Given the description of an element on the screen output the (x, y) to click on. 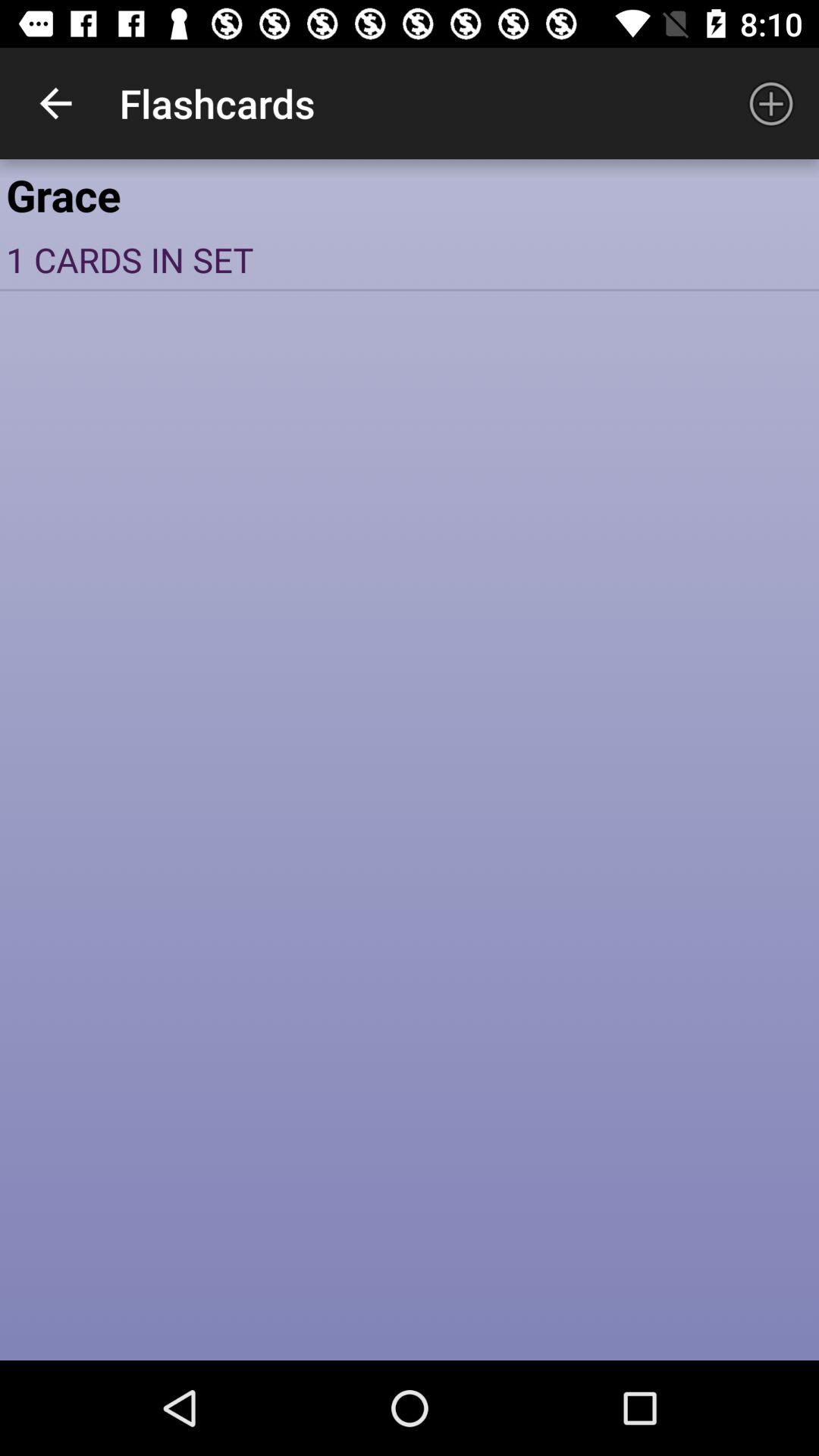
swipe to 1 cards in icon (409, 259)
